Given the description of an element on the screen output the (x, y) to click on. 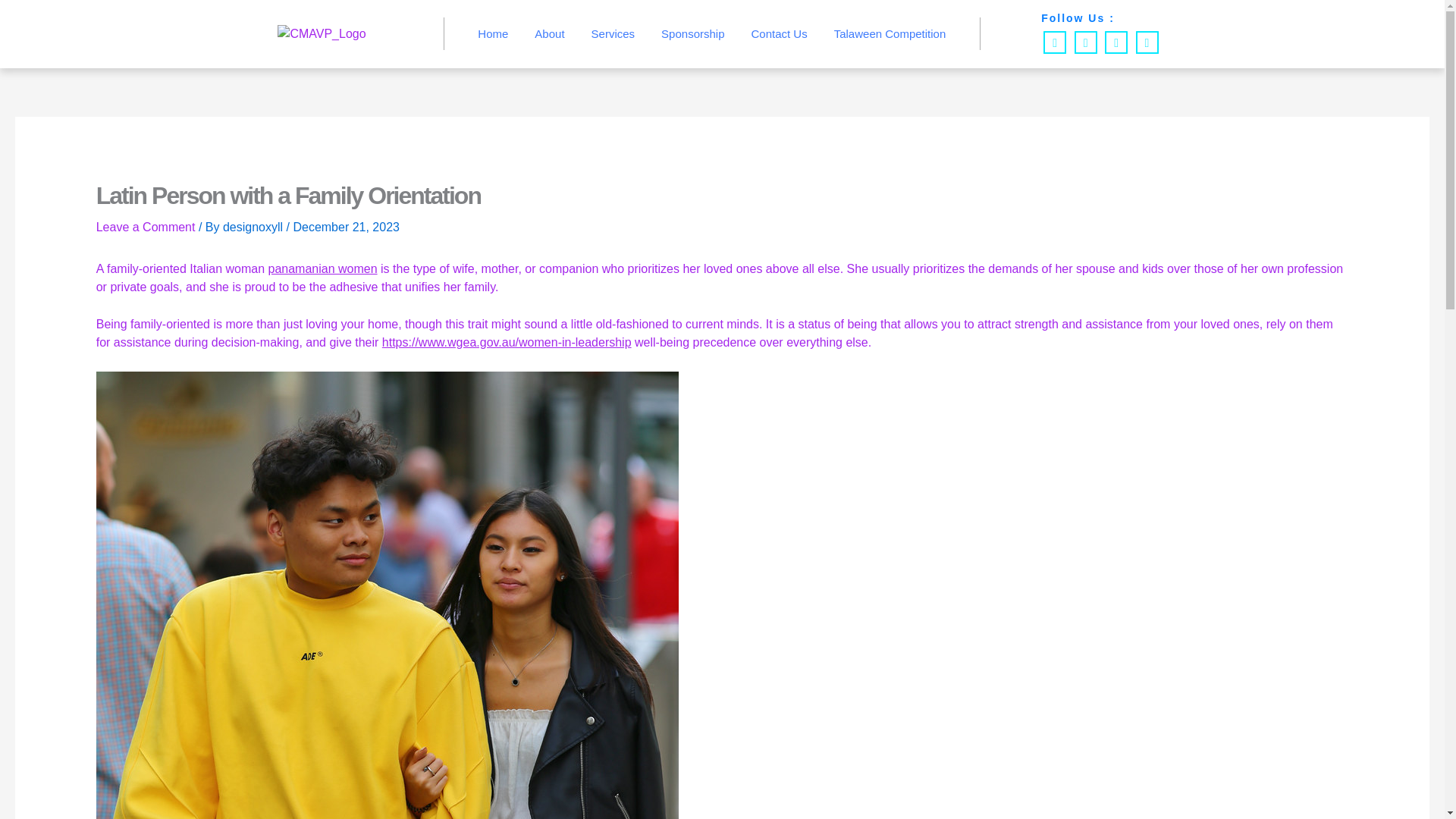
Leave a Comment (145, 226)
designoxyll (254, 226)
View all posts by designoxyll (254, 226)
Contact Us (778, 33)
Home (492, 33)
Services (612, 33)
panamanian women (322, 268)
Sponsorship (692, 33)
Talaween Competition (890, 33)
About (549, 33)
